Given the description of an element on the screen output the (x, y) to click on. 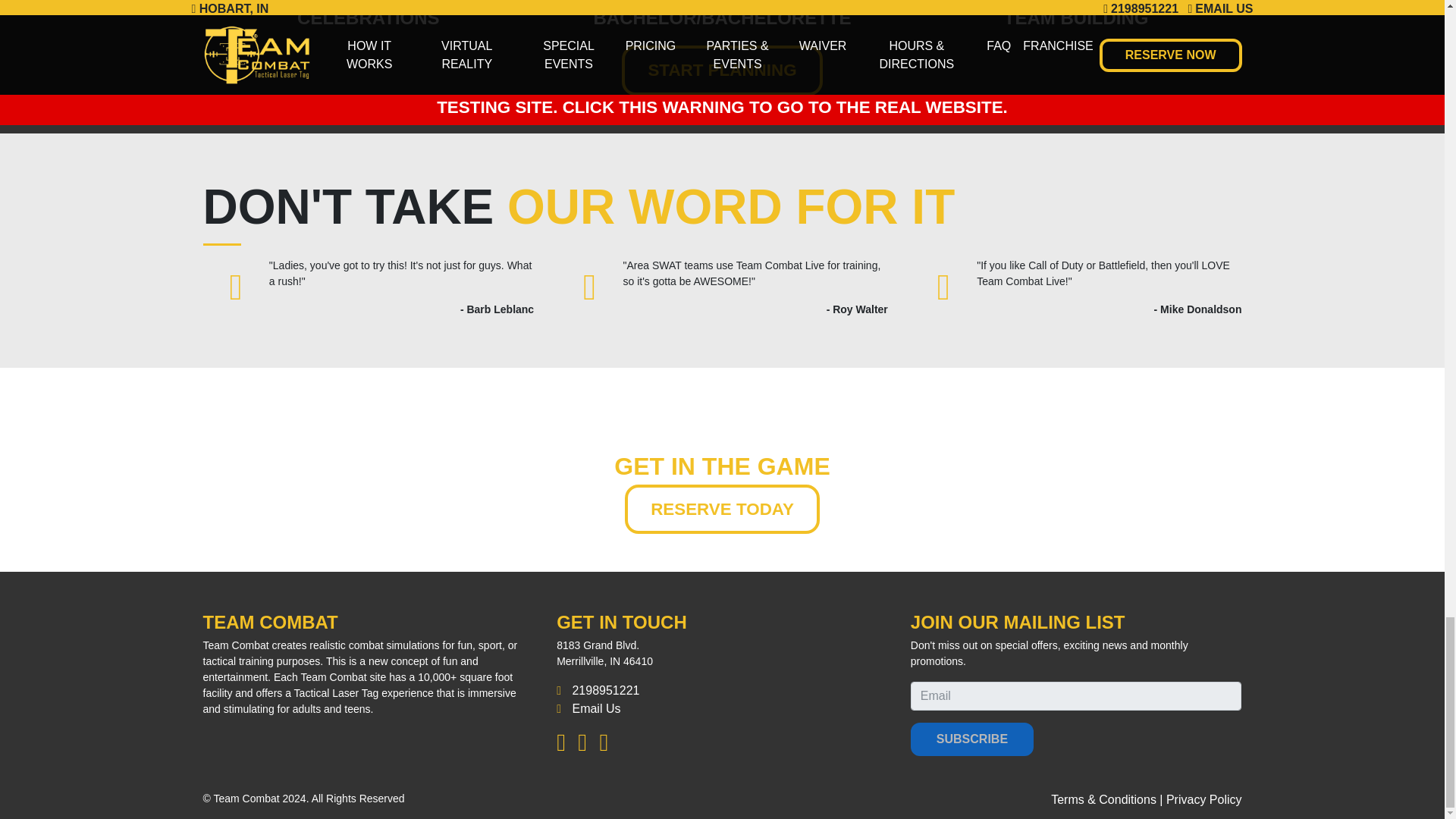
RESERVE TODAY (721, 509)
2198951221 (605, 689)
START PLANNING (721, 70)
Email Us (596, 707)
Privacy Policy (1203, 799)
SUBSCRIBE (972, 738)
